Given the description of an element on the screen output the (x, y) to click on. 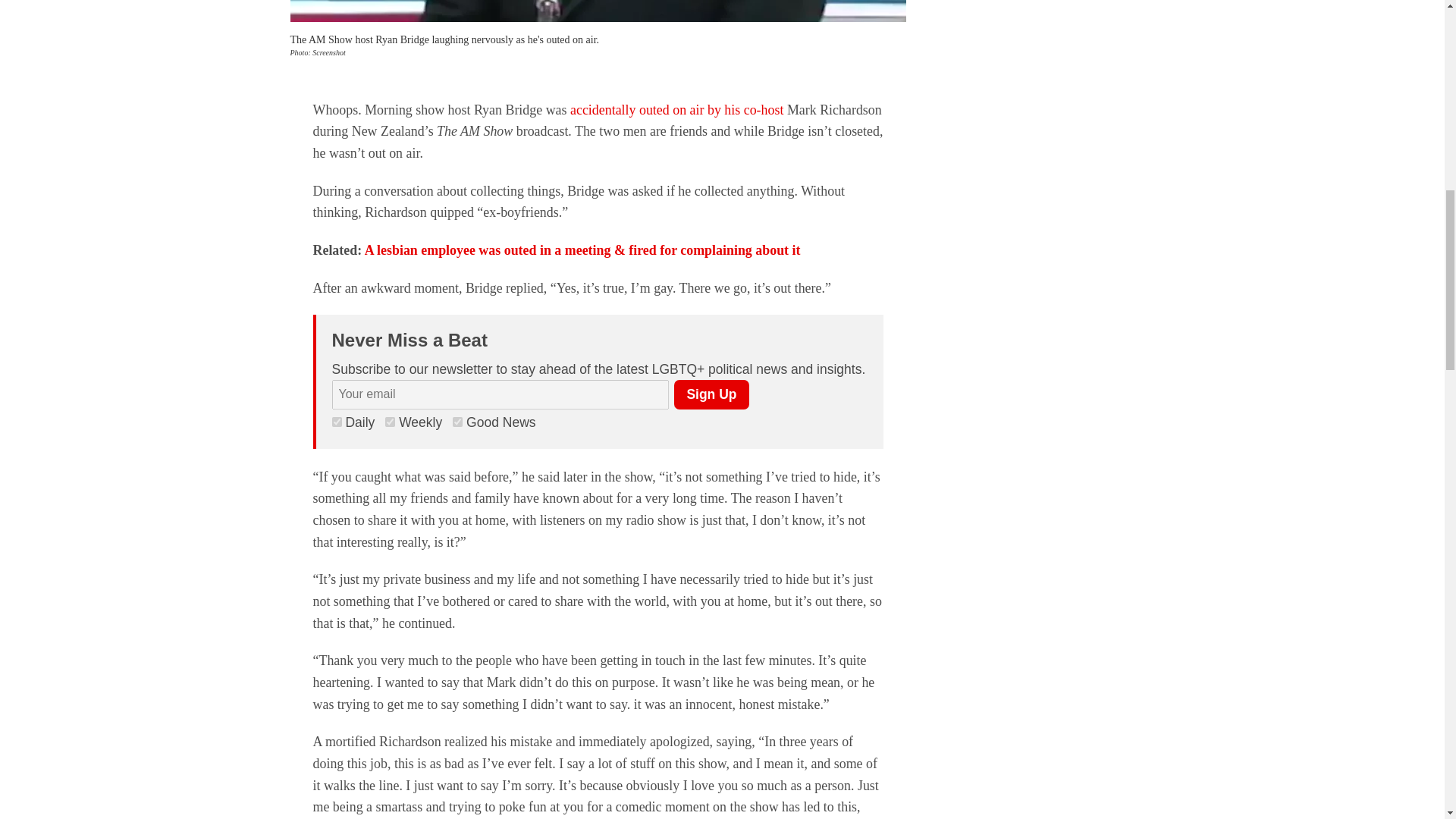
1920885 (336, 421)
accidentally outed on air by his co-host (676, 109)
Mark Richardson (597, 11)
1920884 (389, 421)
Sign Up (711, 394)
1920883 (457, 421)
